Given the description of an element on the screen output the (x, y) to click on. 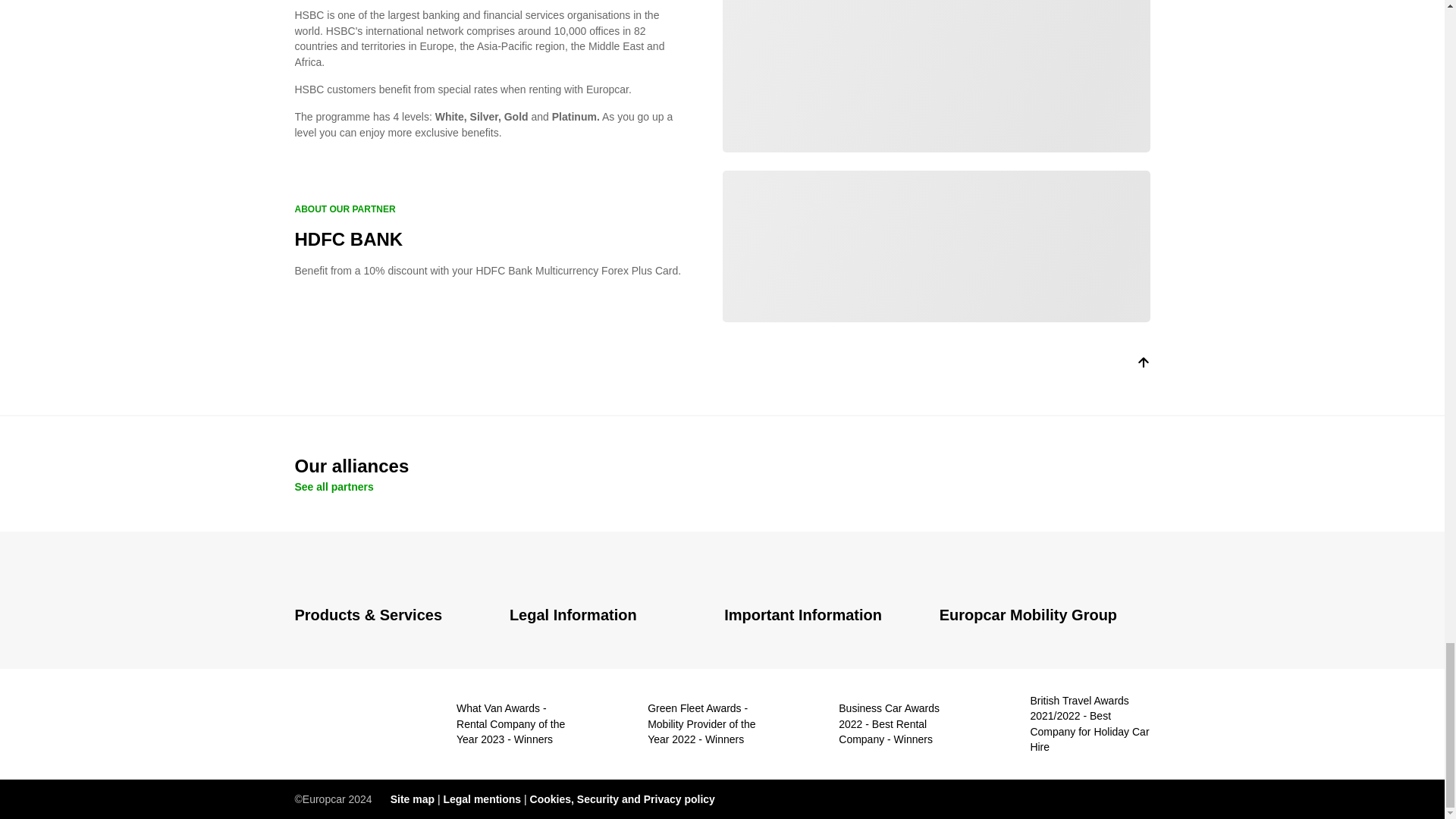
Our alliances (722, 465)
Legal Information (607, 615)
Europcar Mobility Group (1044, 615)
Important Information (821, 615)
See all partners (333, 486)
top (1142, 364)
